Given the description of an element on the screen output the (x, y) to click on. 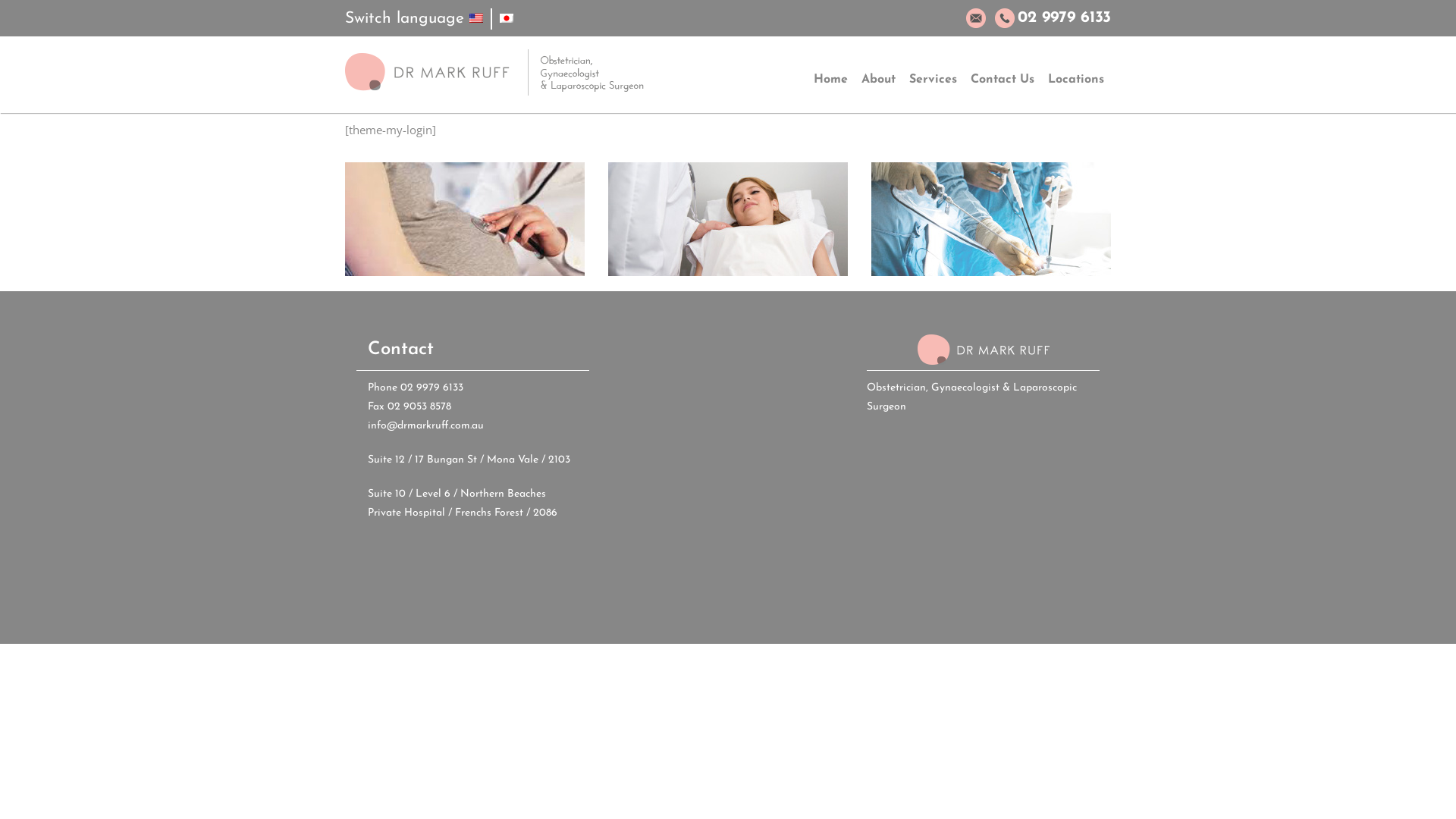
About Element type: text (878, 79)
Contact Us Element type: text (1002, 79)
Services Element type: text (932, 79)
Home Element type: text (830, 79)
info@drmarkruff.com.au Element type: text (425, 425)
Locations Element type: text (1075, 79)
